Given the description of an element on the screen output the (x, y) to click on. 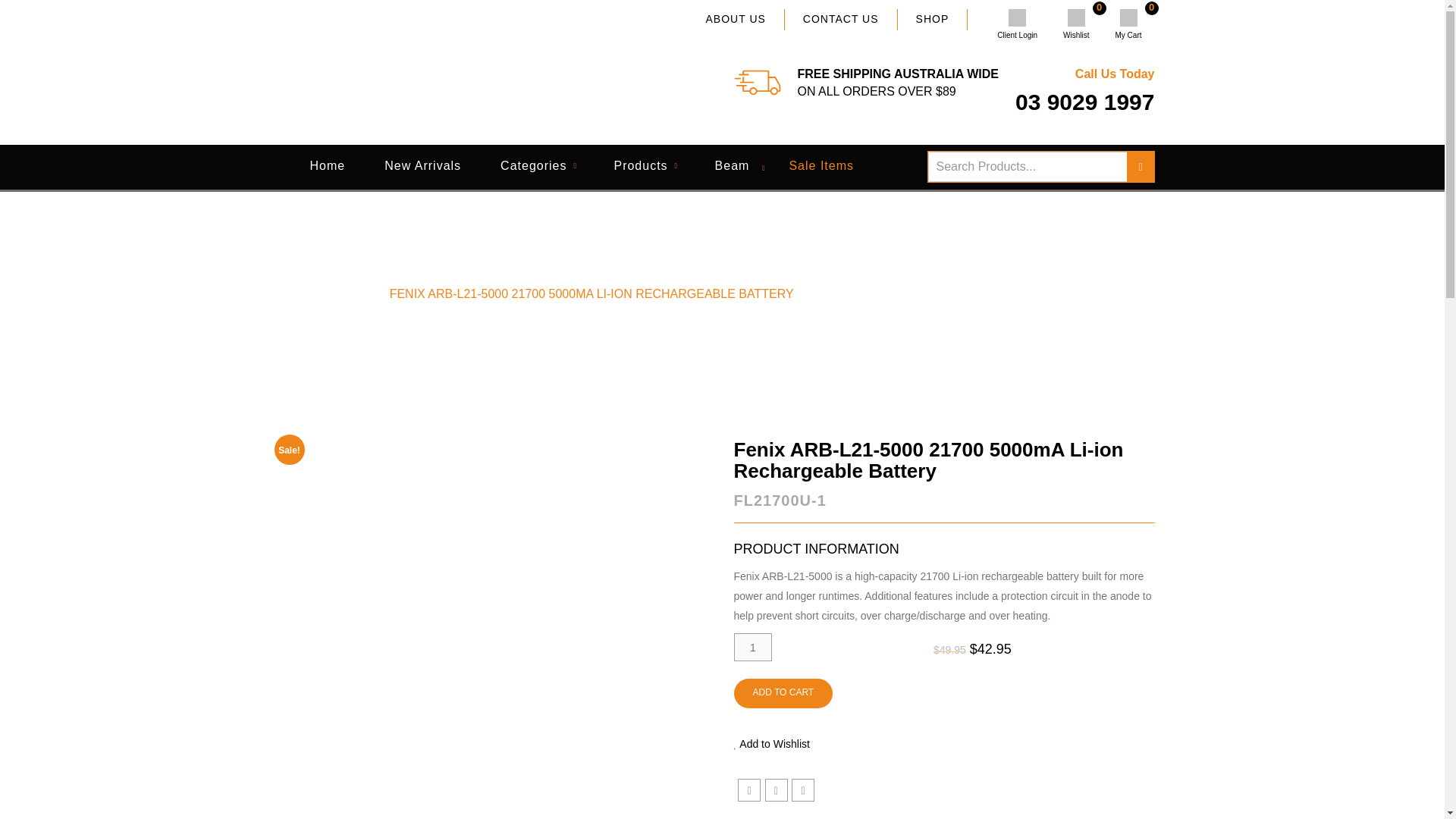
Products (644, 166)
ABOUT US (735, 19)
1 (753, 646)
SHOP (933, 19)
Qty (1128, 24)
Client Login (1075, 24)
Home (753, 646)
New Arrivals (1016, 24)
